Given the description of an element on the screen output the (x, y) to click on. 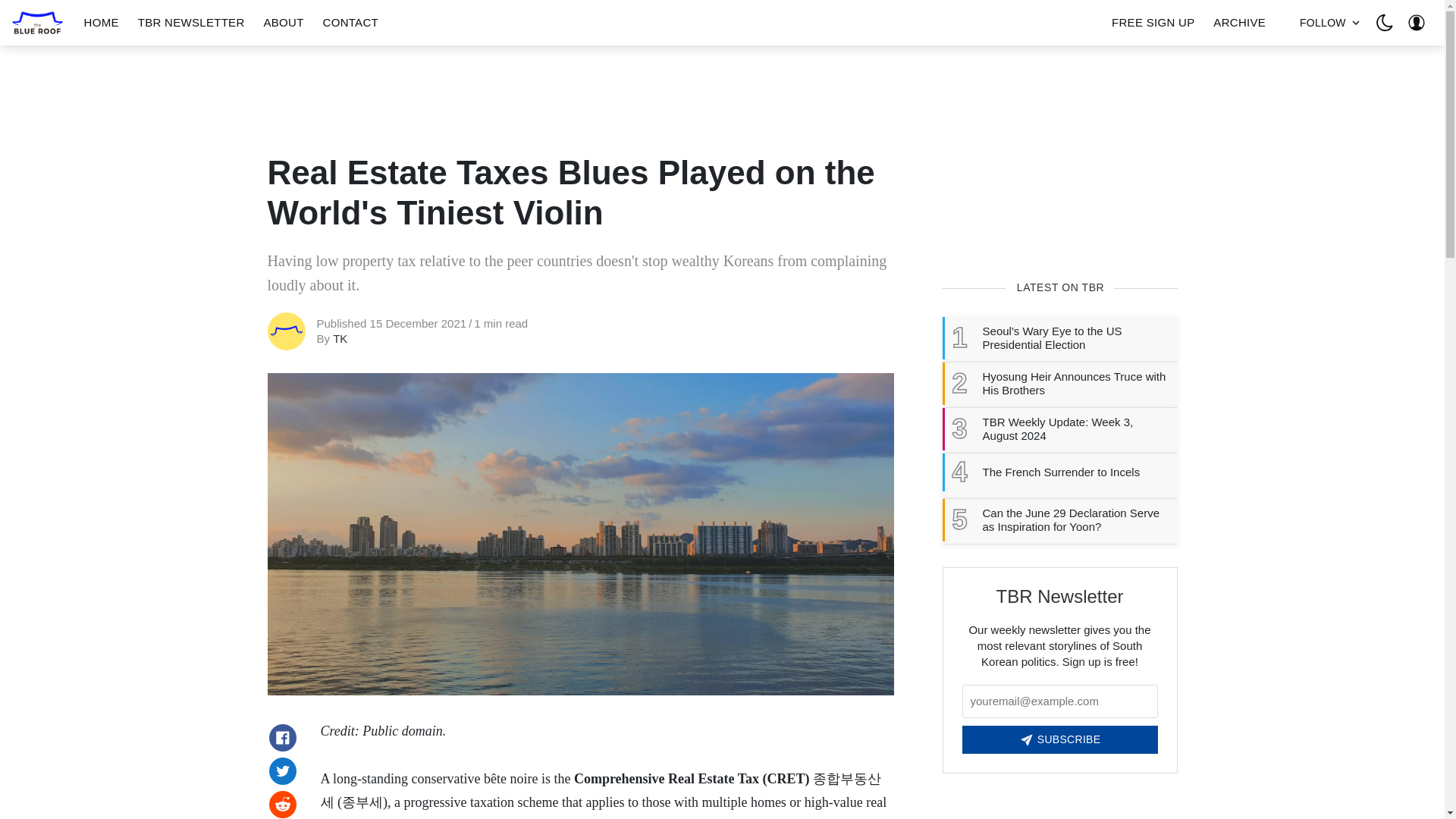
ABOUT (282, 22)
Posts by TK (340, 338)
CONTACT (350, 22)
HOME (101, 22)
FREE SIGN UP (1152, 22)
ARCHIVE (1239, 22)
TK (340, 338)
TBR NEWSLETTER (191, 22)
